Given the description of an element on the screen output the (x, y) to click on. 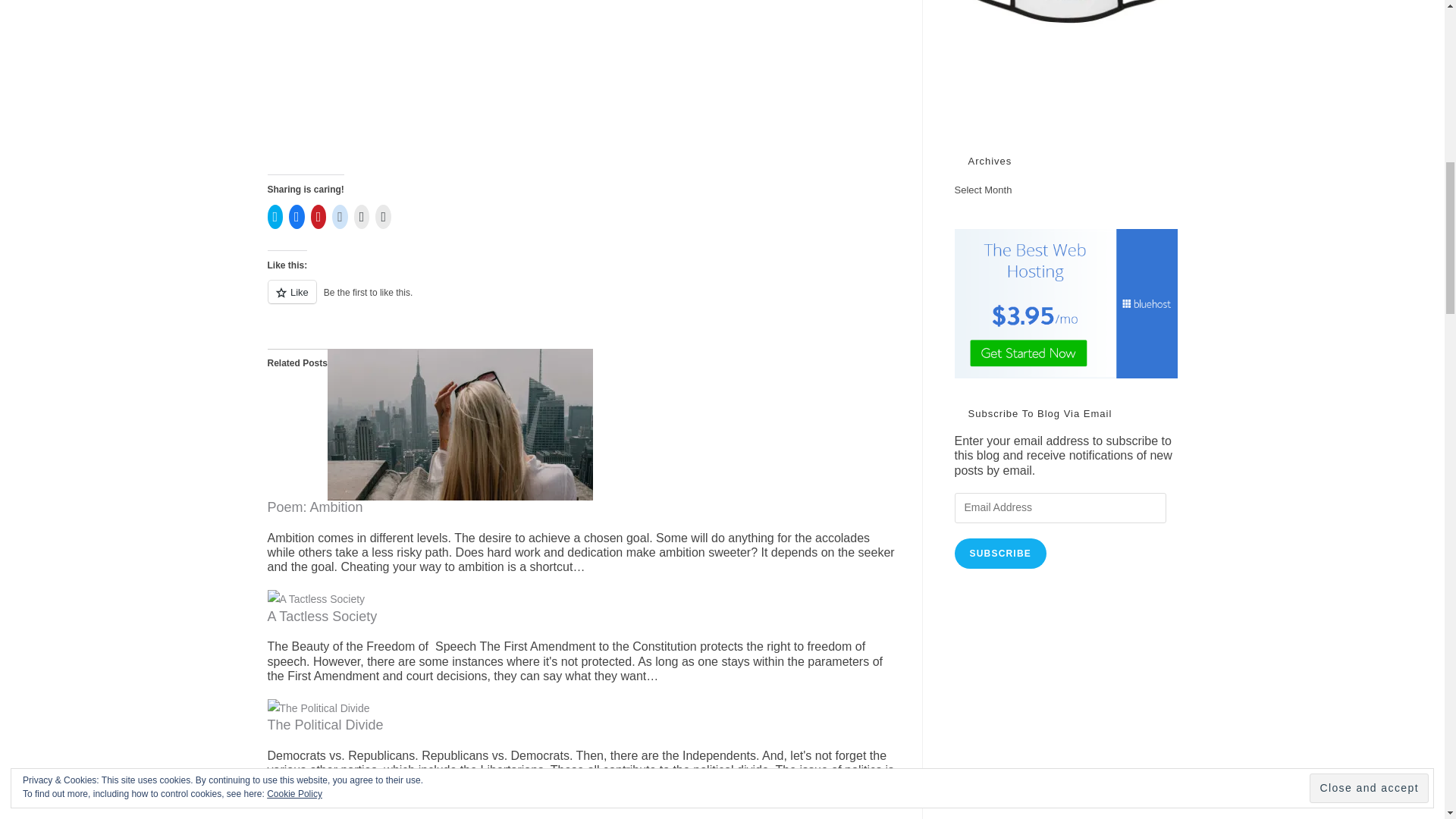
A Tactless Society (321, 616)
Poem: Ambition (314, 507)
Like or Reblog (582, 300)
The Political Divide (324, 724)
A Tactless Society (321, 616)
A Tactless Society (315, 598)
The Political Divide (317, 707)
Poem: Ambition (314, 507)
Poem: Ambition (459, 423)
